Given the description of an element on the screen output the (x, y) to click on. 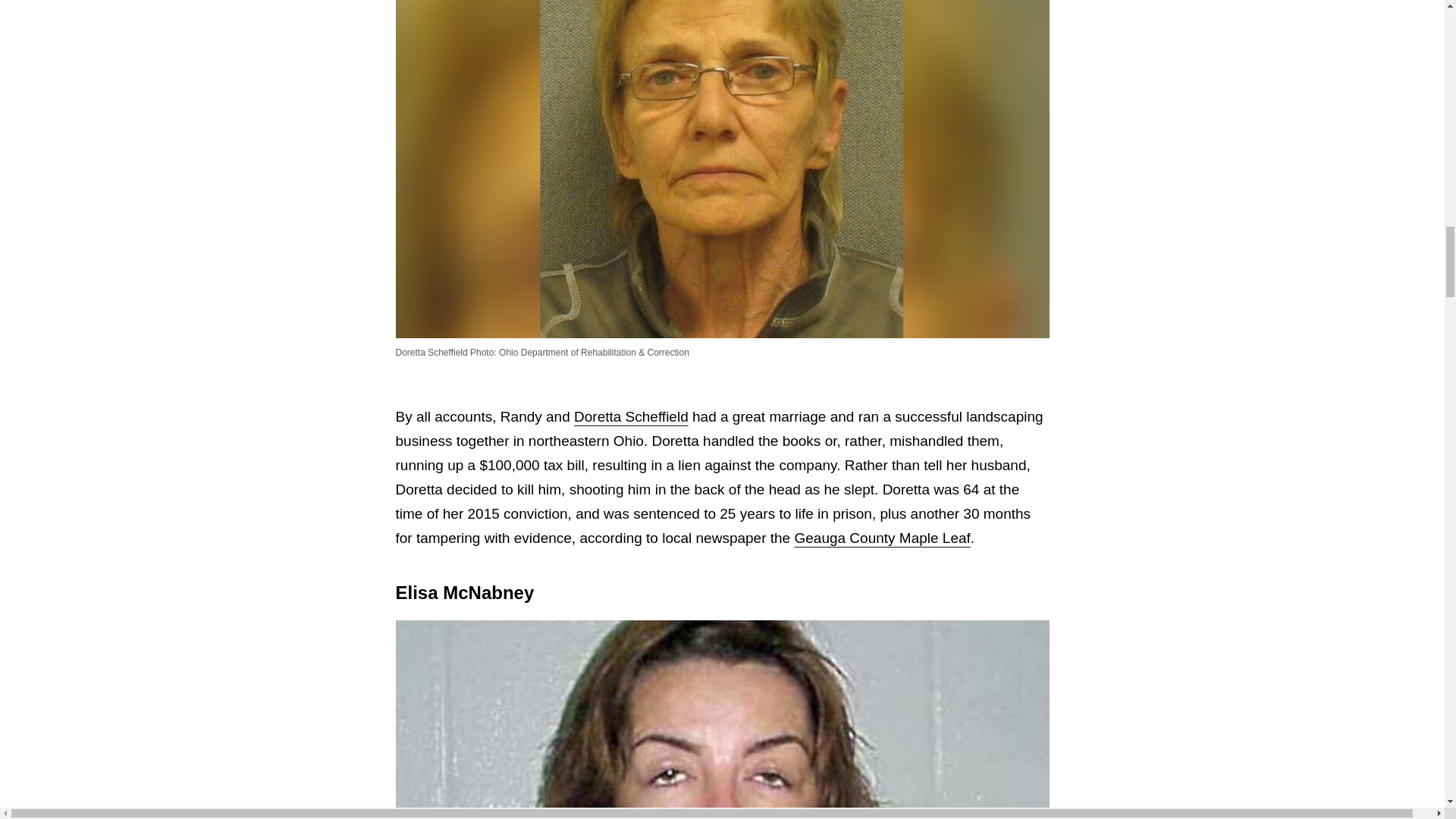
Doretta Scheffield (630, 416)
Geauga County Maple Leaf (881, 537)
